Given the description of an element on the screen output the (x, y) to click on. 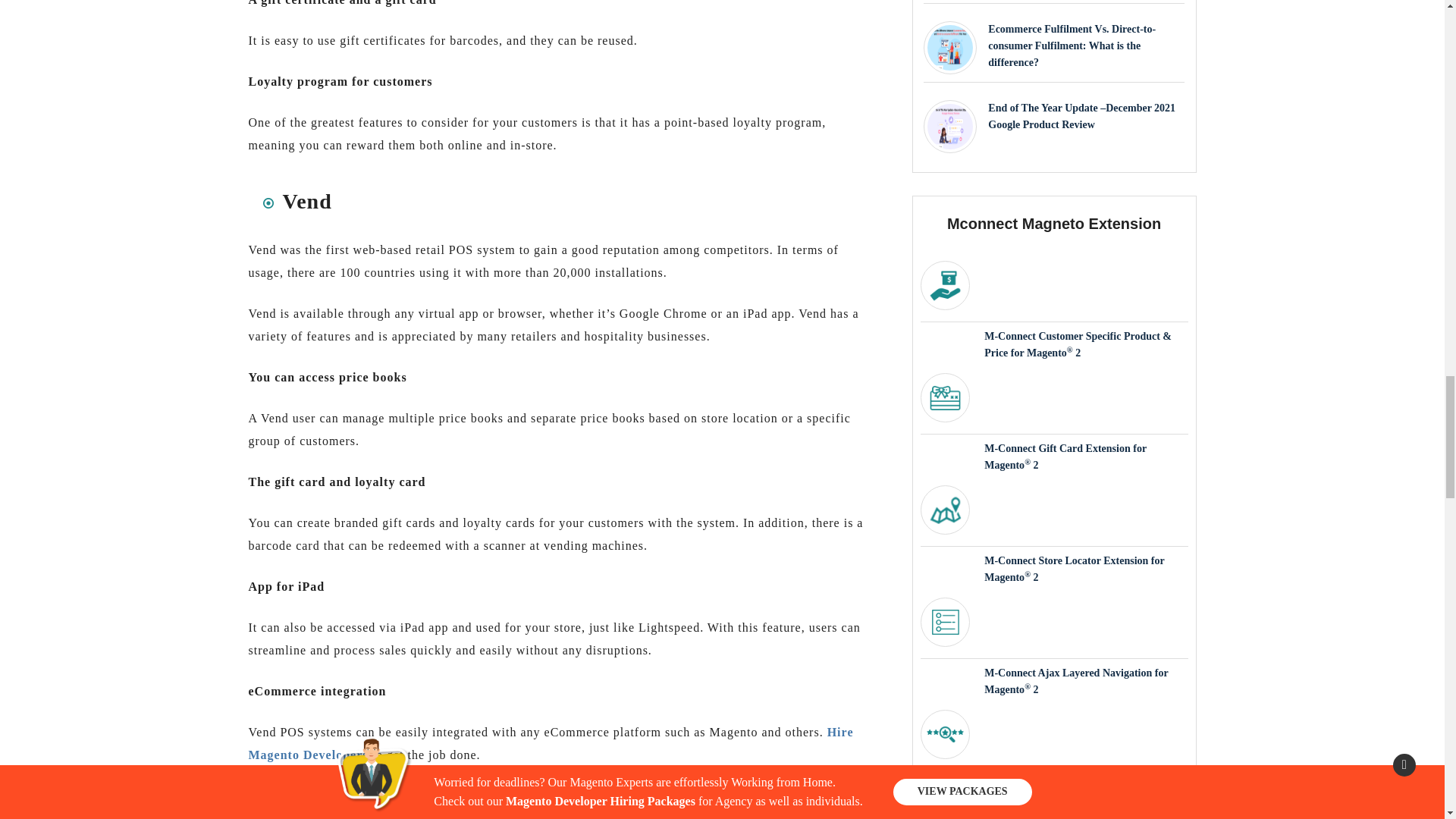
Hire Magento Developers (550, 743)
